Given the description of an element on the screen output the (x, y) to click on. 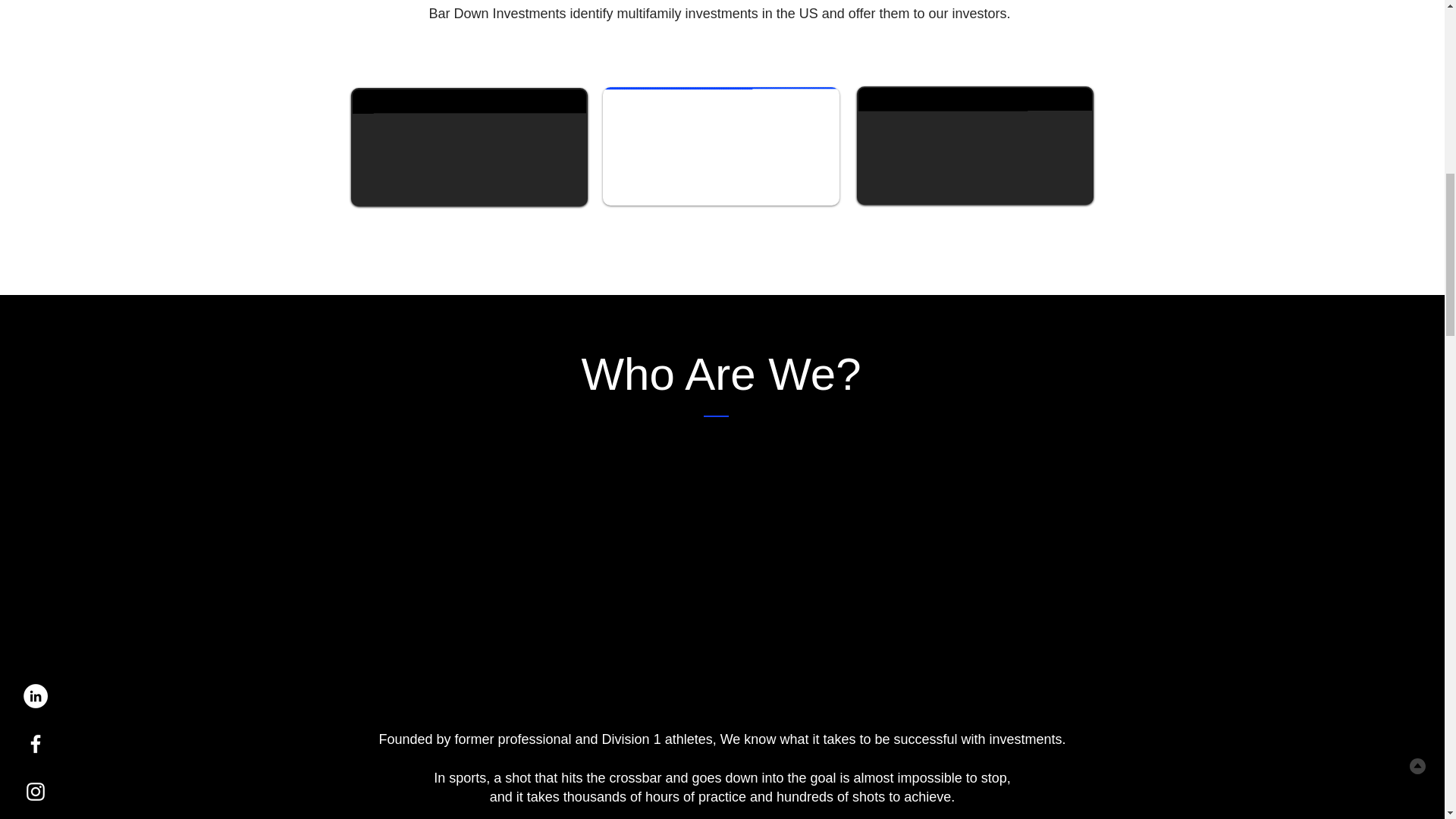
600.gif (975, 145)
600.gif (468, 146)
600M.gif (720, 145)
